Given the description of an element on the screen output the (x, y) to click on. 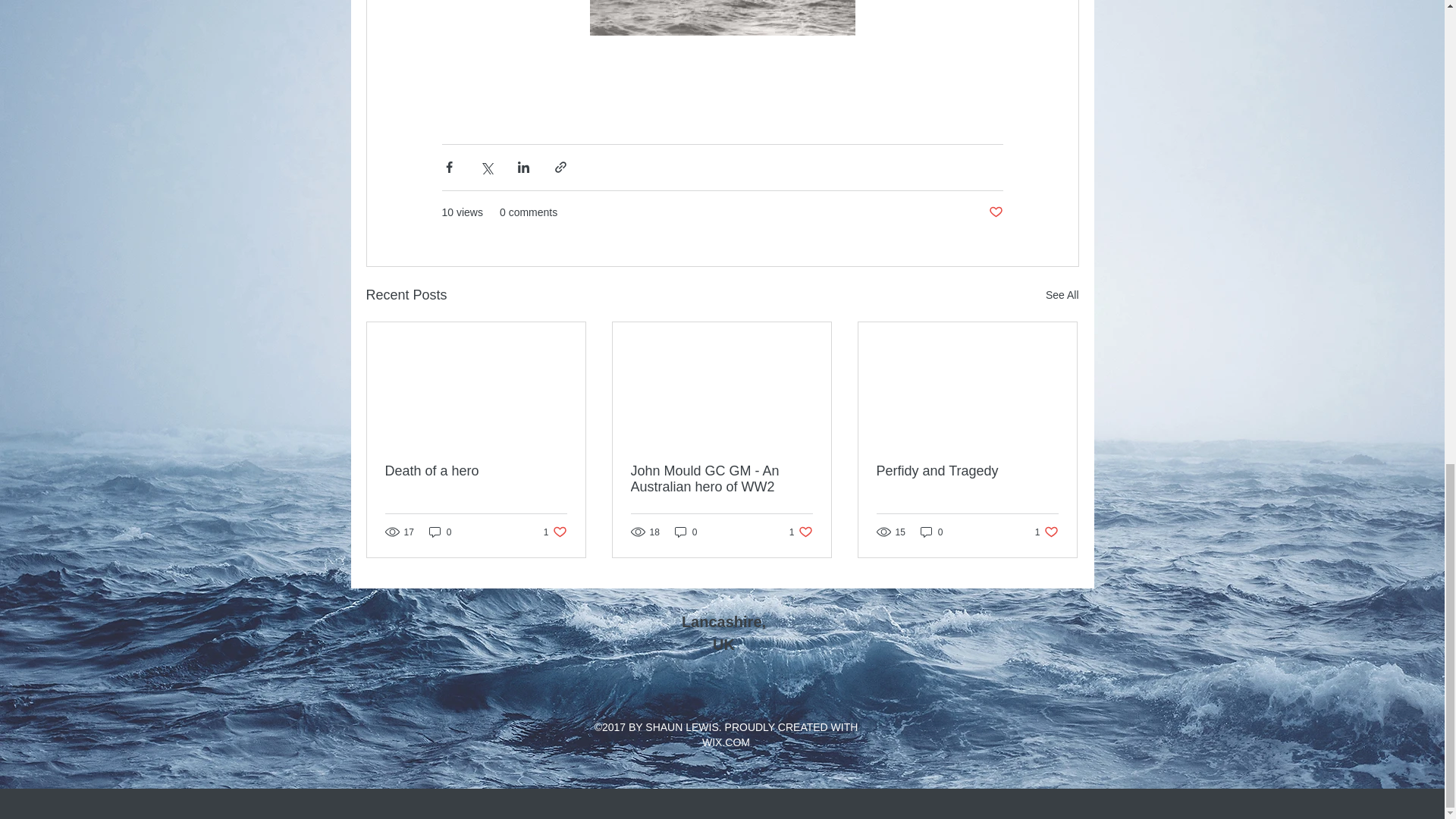
See All (1061, 295)
Post not marked as liked (995, 212)
John Mould GC GM - An Australian hero of WW2 (721, 479)
Death of a hero (476, 471)
Perfidy and Tragedy (1046, 531)
0 (800, 531)
0 (967, 471)
0 (931, 531)
